Given the description of an element on the screen output the (x, y) to click on. 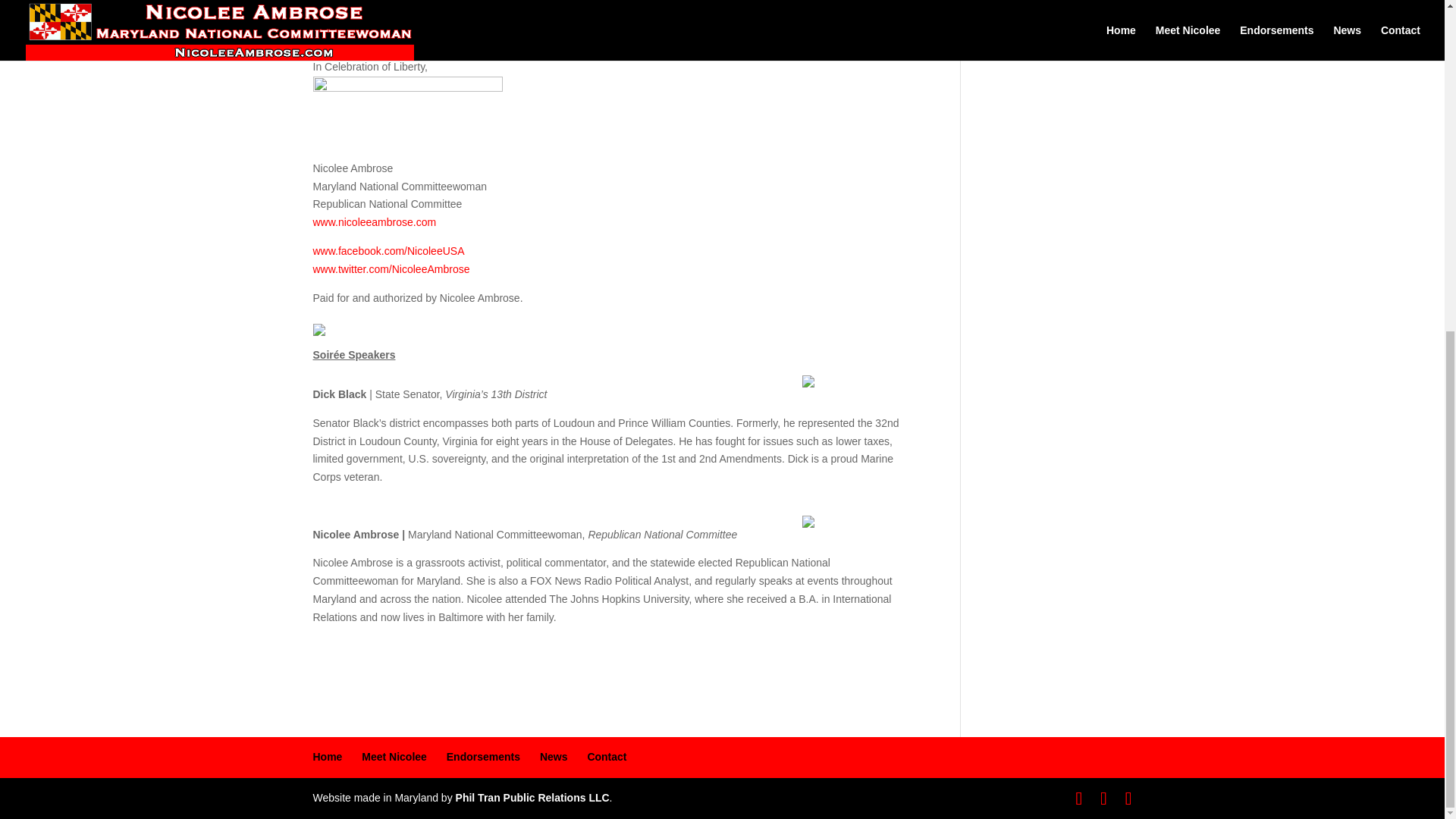
News (553, 756)
Meet Nicolee (393, 756)
Contact (606, 756)
Home (327, 756)
www.nicoleeambrose.com (374, 222)
Phil Tran Public Relations LLC (532, 797)
Endorsements (482, 756)
